Given the description of an element on the screen output the (x, y) to click on. 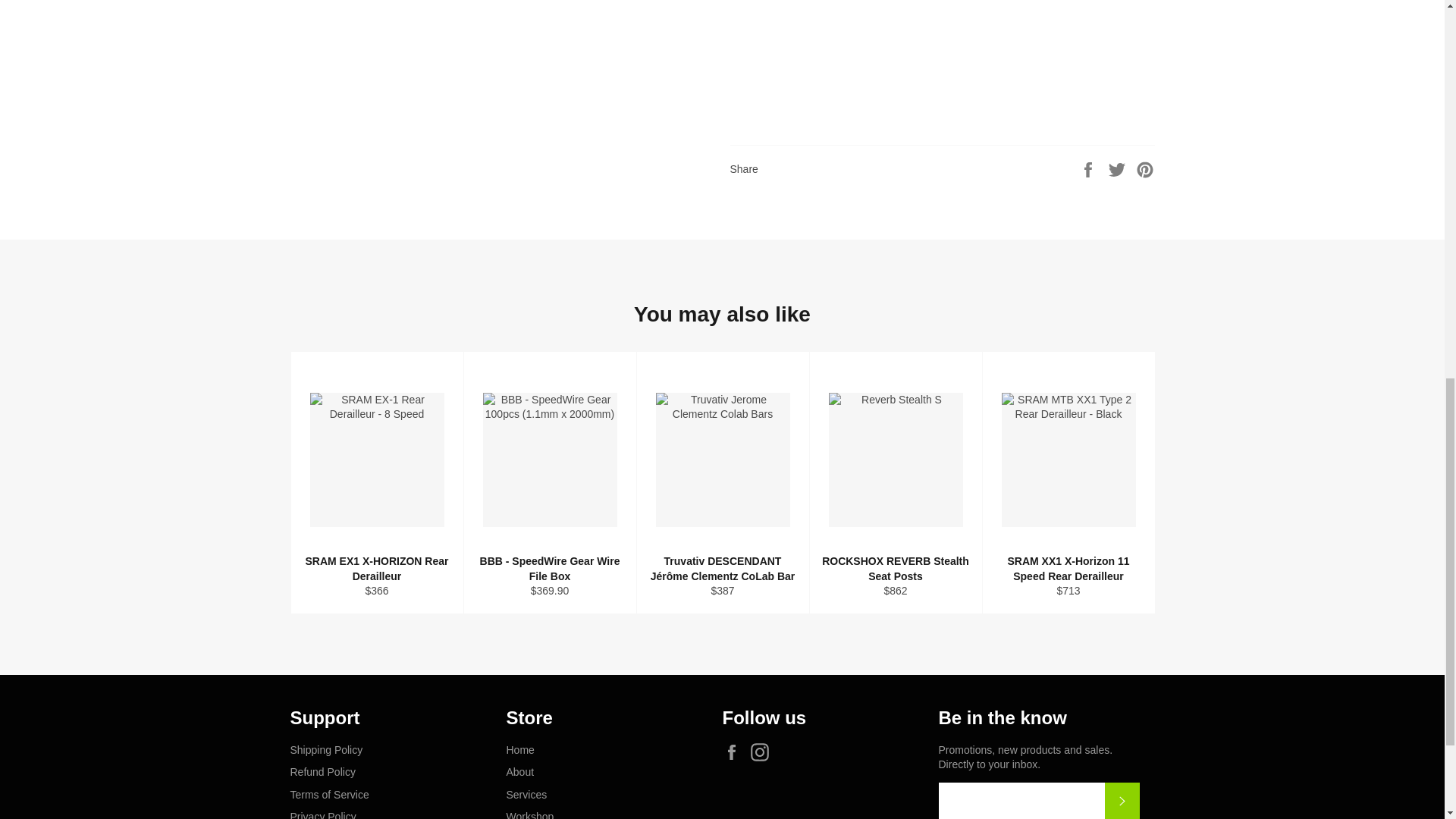
Share on Facebook (1089, 168)
Pin on Pinterest (1144, 168)
Tweet on Twitter (1118, 168)
Hub Cycles on Instagram (763, 751)
Hub Cycles on Facebook (735, 751)
